Given the description of an element on the screen output the (x, y) to click on. 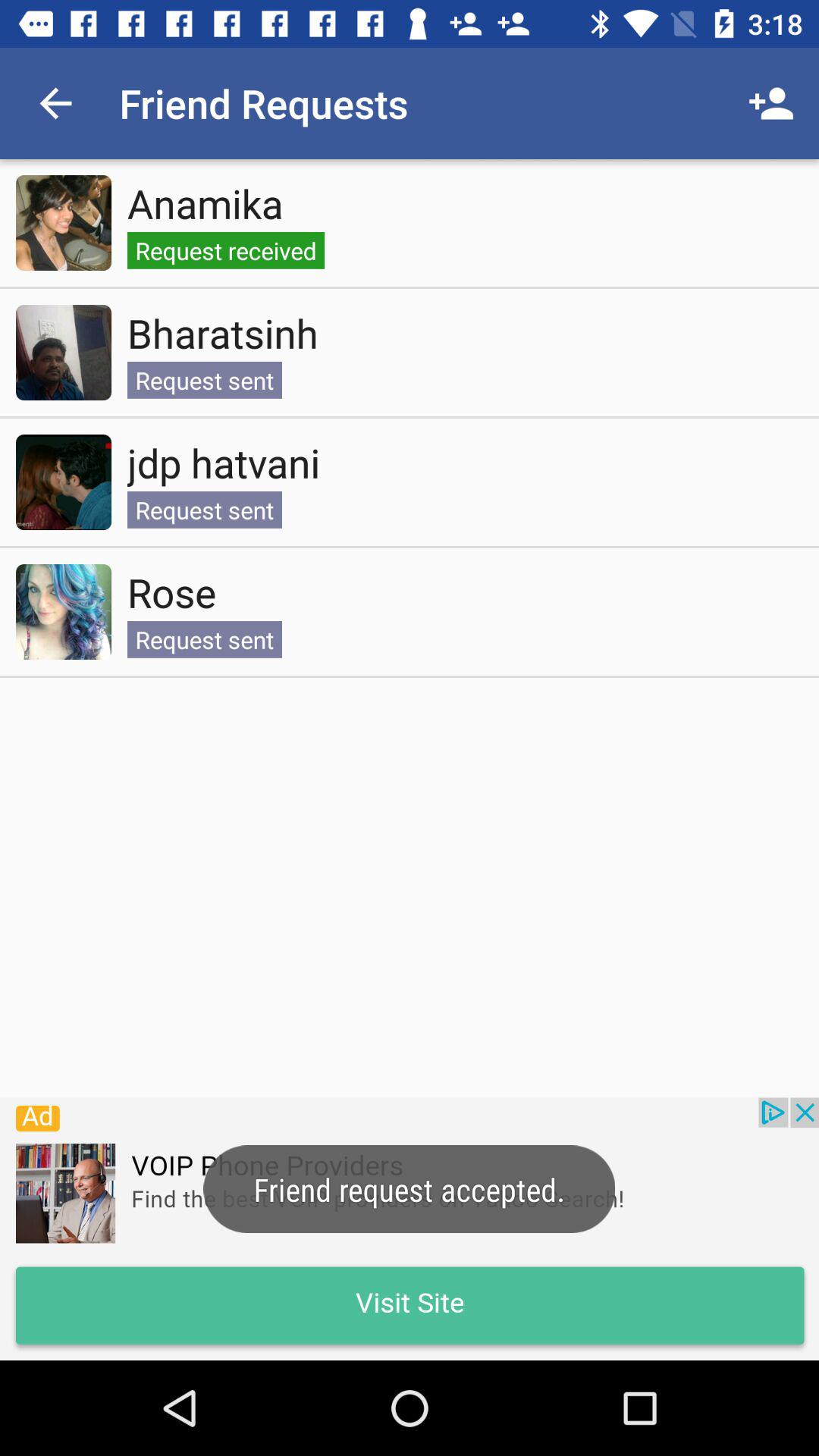
enlarge image (63, 222)
